Given the description of an element on the screen output the (x, y) to click on. 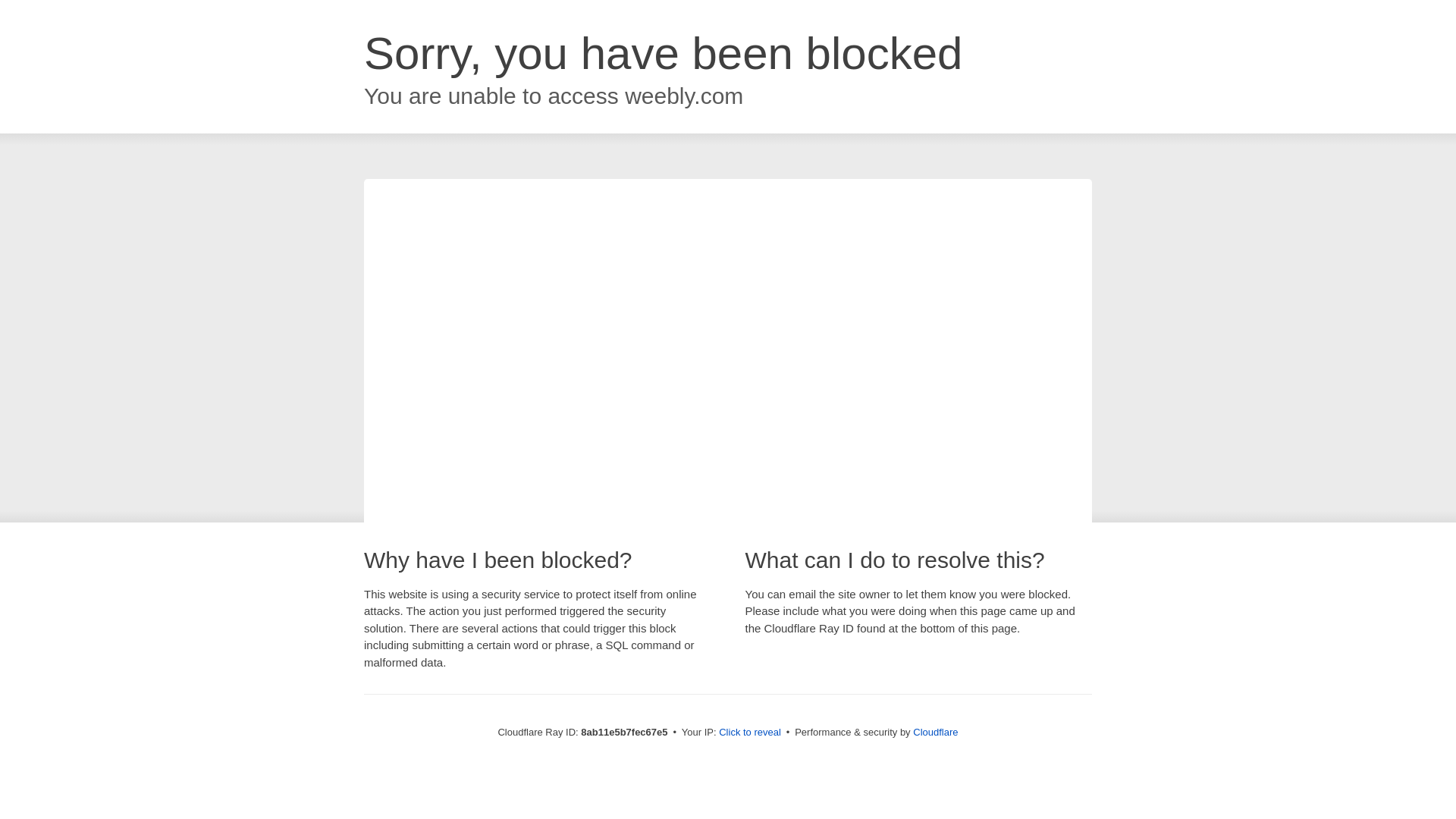
Cloudflare (935, 731)
Click to reveal (749, 732)
